Given the description of an element on the screen output the (x, y) to click on. 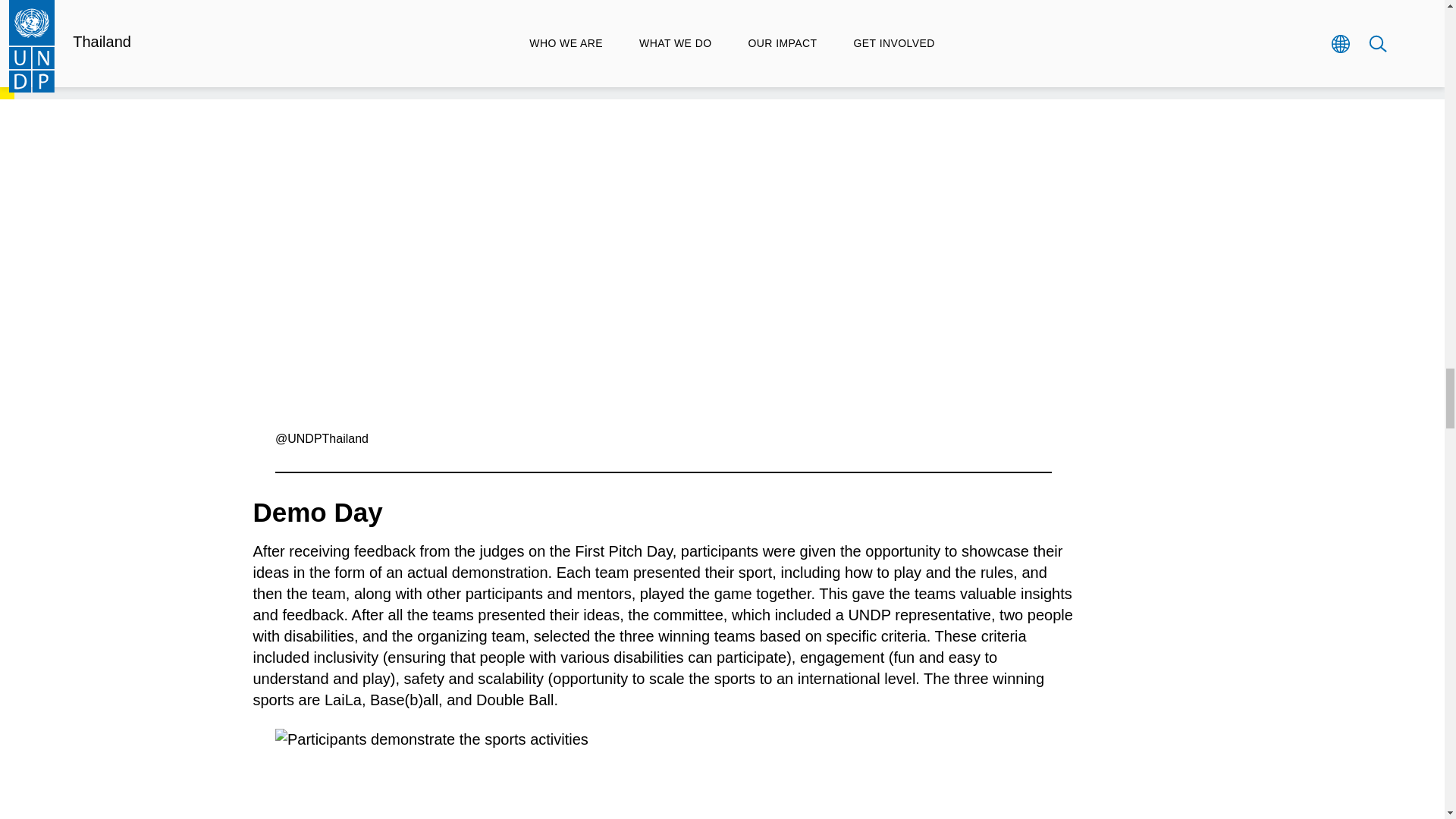
Participants demonstrate the sports activities  (663, 773)
